Given the description of an element on the screen output the (x, y) to click on. 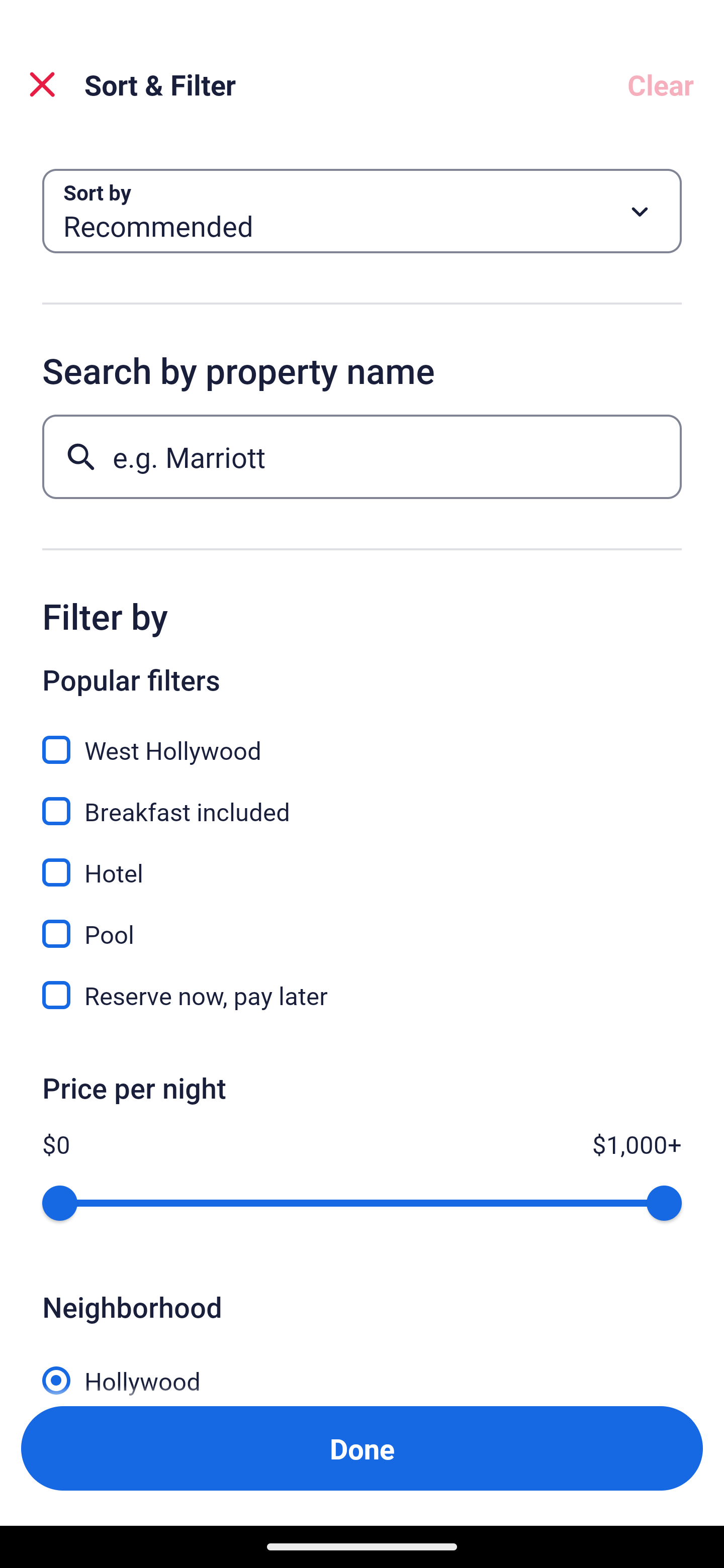
Close Sort and Filter (42, 84)
Clear (660, 84)
Sort by Button Recommended (361, 211)
e.g. Marriott Button (361, 455)
West Hollywood, West Hollywood (361, 738)
Breakfast included, Breakfast included (361, 800)
Hotel, Hotel (361, 861)
Pool, Pool (361, 922)
Reserve now, pay later, Reserve now, pay later (361, 995)
Apply and close Sort and Filter Done (361, 1448)
